Given the description of an element on the screen output the (x, y) to click on. 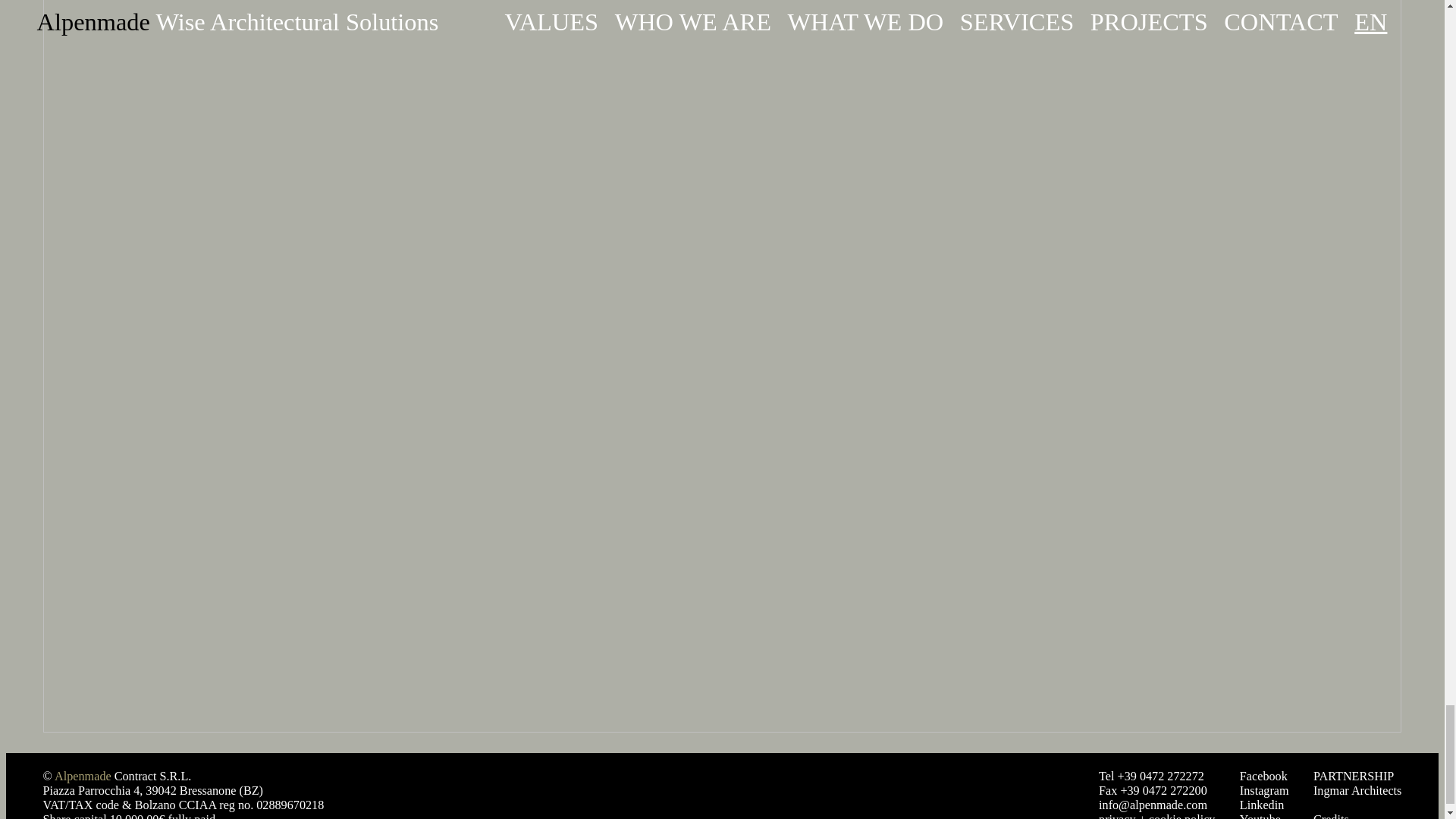
Facebook (1263, 776)
Instagram (1264, 790)
Linkedin (1262, 805)
Ingmar Architects (1356, 790)
